Given the description of an element on the screen output the (x, y) to click on. 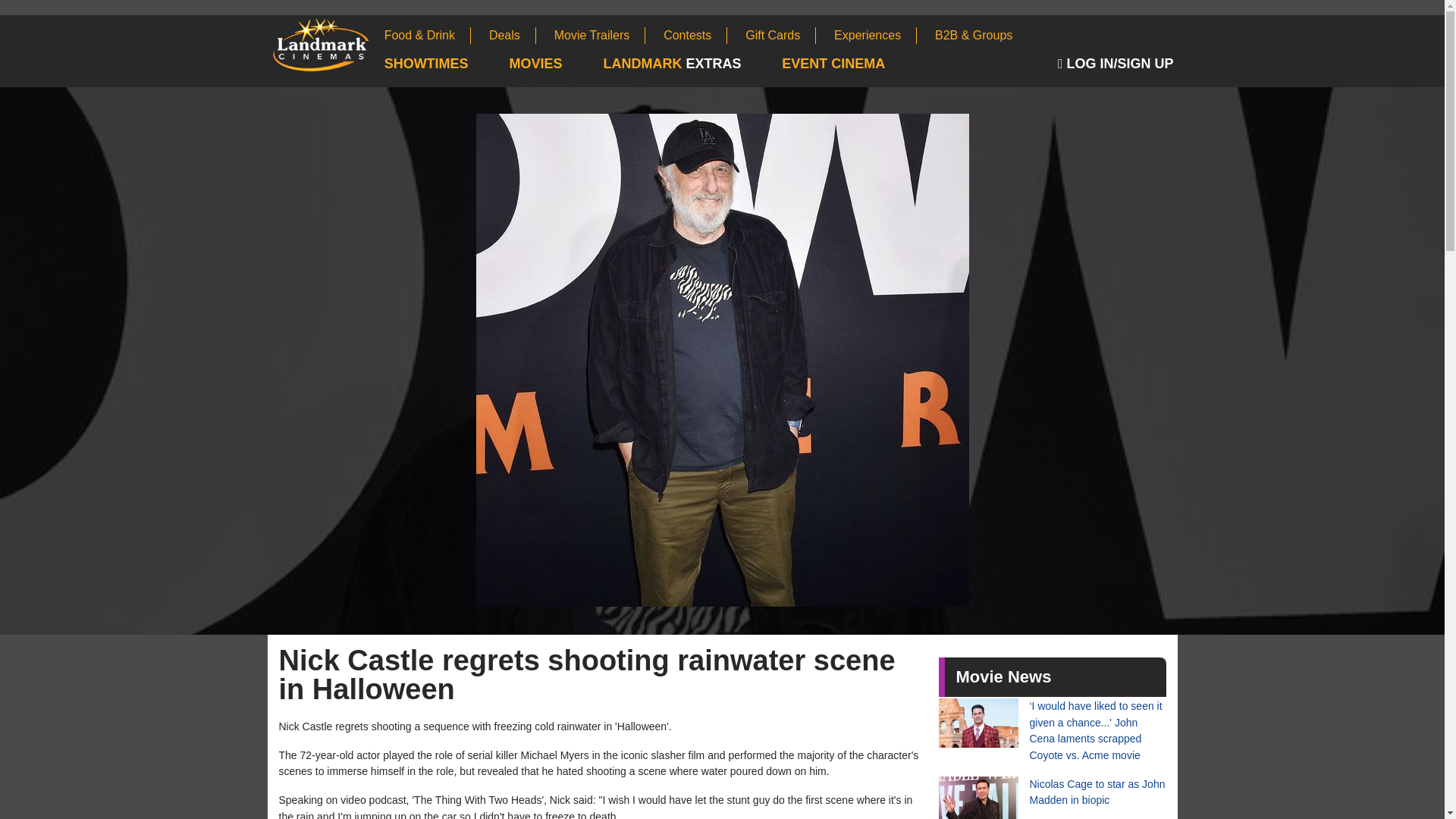
MOVIES (554, 64)
LANDMARK EXTRAS (690, 64)
Watch Movie Trailers (600, 35)
Movie Experiences and PLF (875, 35)
Sign In to your Landmark Cinemas Account (1117, 64)
Experiences (875, 35)
Check Local Showtimes (445, 64)
Deals (512, 35)
Nicolas Cage to star as John Madden in biopic (1052, 797)
Gift Cards (780, 35)
